Given the description of an element on the screen output the (x, y) to click on. 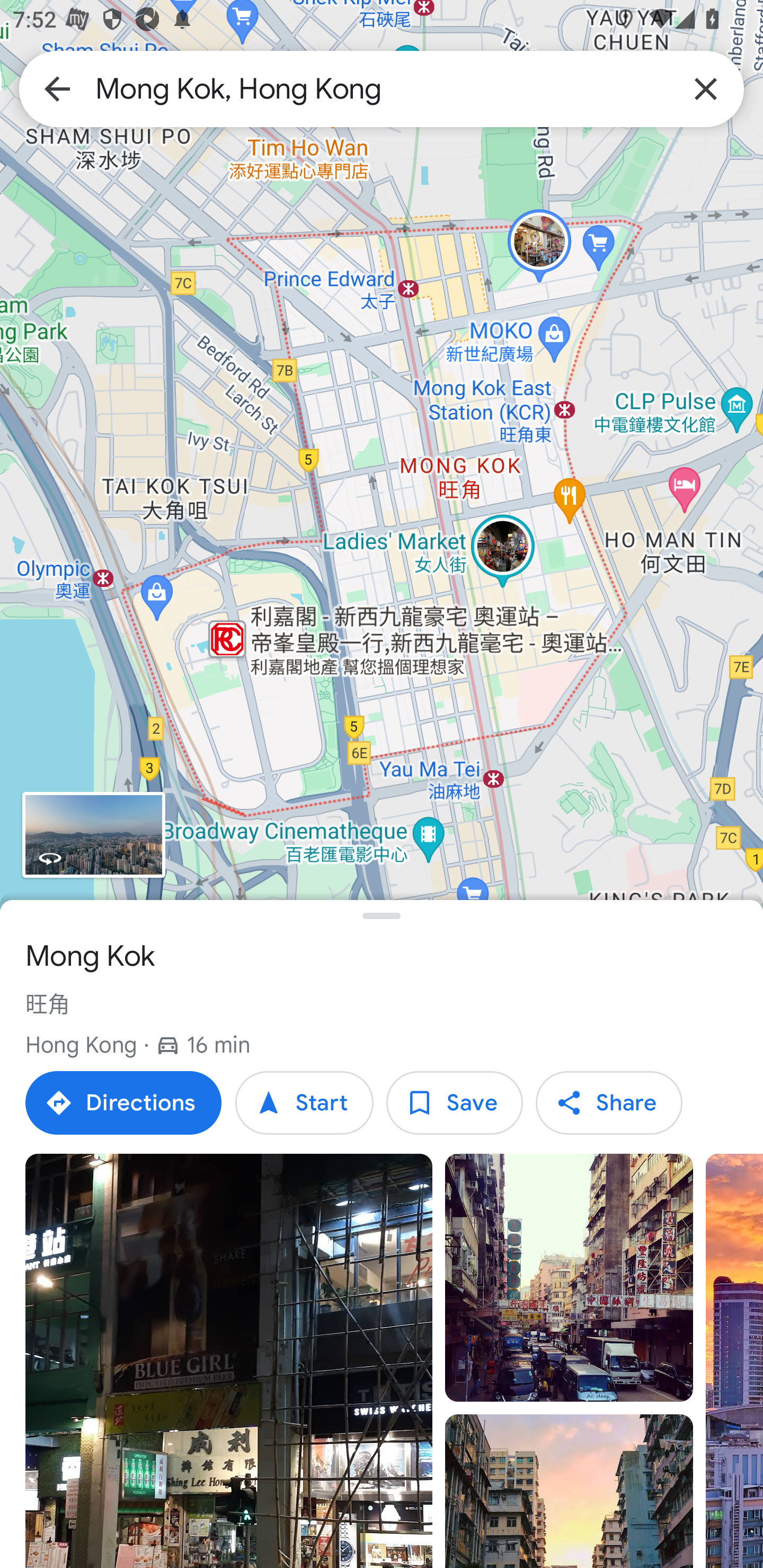
Back (57, 88)
Mong Kok, Hong Kong (381, 88)
Clear (705, 88)
View Street view imagery for Mong Kok (93, 834)
Start Start Start (304, 1102)
Save Mong Kok to lists Save Save Mong Kok to lists (454, 1102)
Share Mong Kok Share Share Mong Kok (608, 1102)
Photo (228, 1361)
Photo (568, 1277)
Photo (568, 1491)
